Given the description of an element on the screen output the (x, y) to click on. 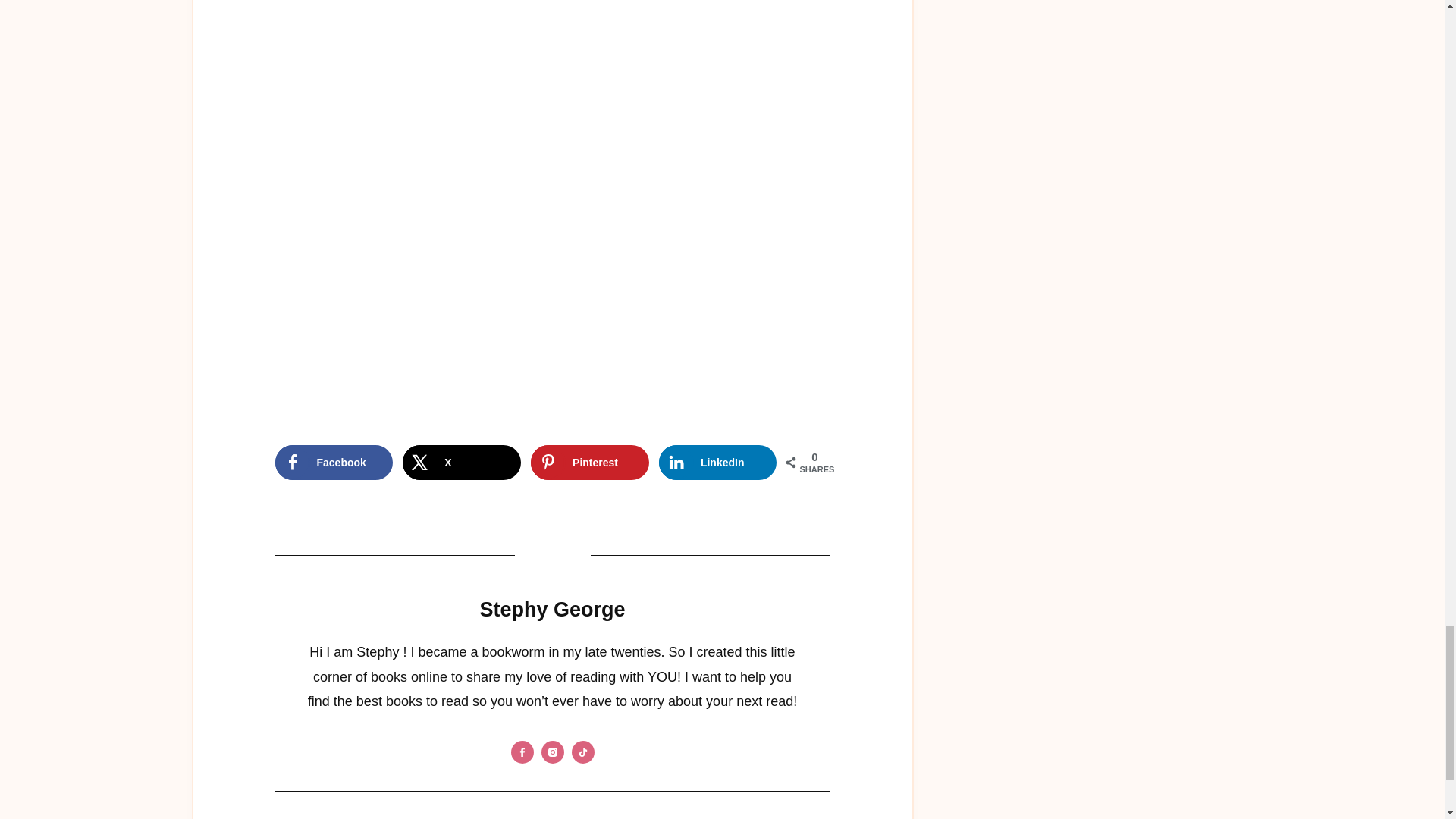
Share on LinkedIn (718, 462)
Share on Facebook (334, 462)
Save to Pinterest (590, 462)
Share on X (462, 462)
